Given the description of an element on the screen output the (x, y) to click on. 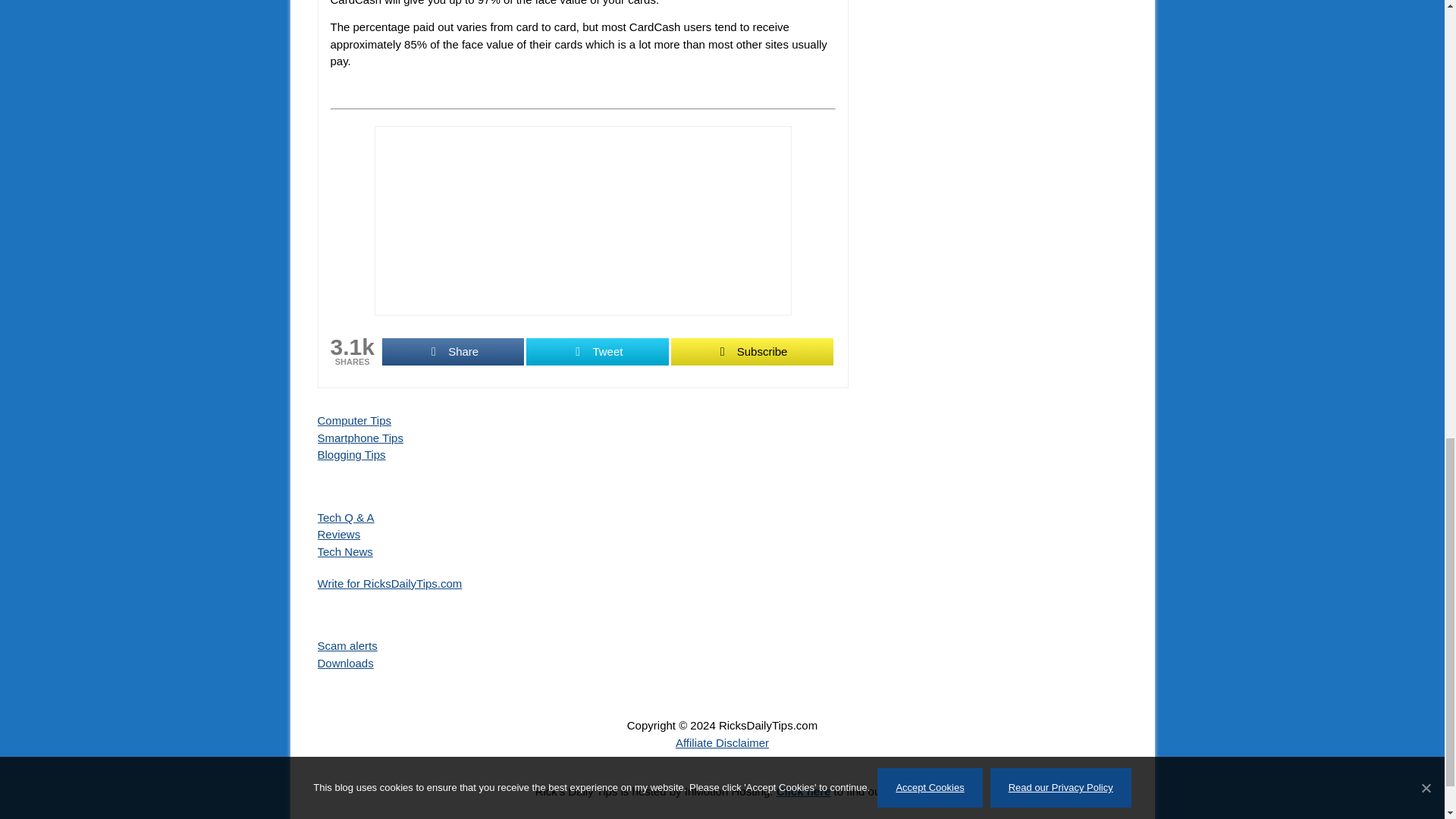
Blogging Tips (351, 454)
Smartphone Tips (360, 437)
Computer Tips (354, 420)
Share (452, 351)
Tweet (596, 351)
Subscribe (751, 351)
